Given the description of an element on the screen output the (x, y) to click on. 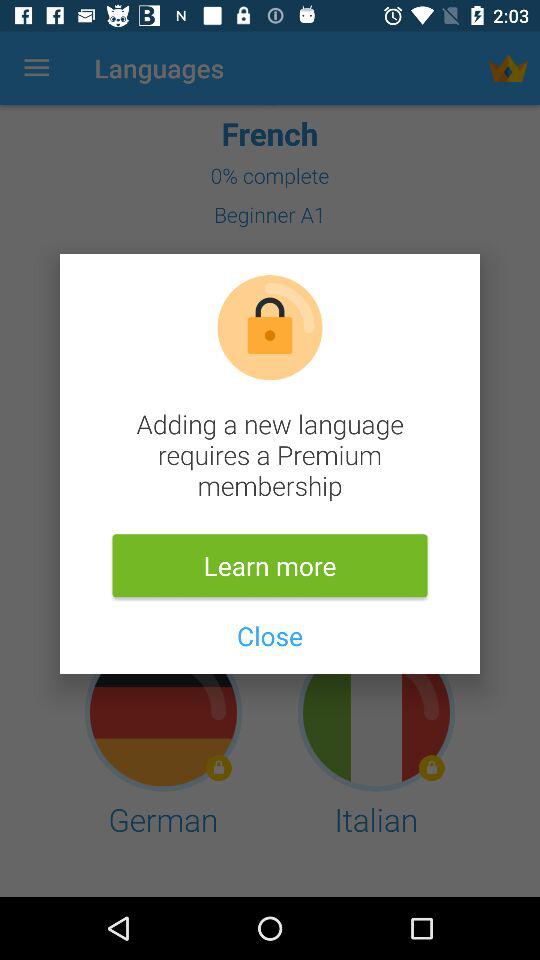
turn off the icon below the adding a new icon (269, 565)
